Given the description of an element on the screen output the (x, y) to click on. 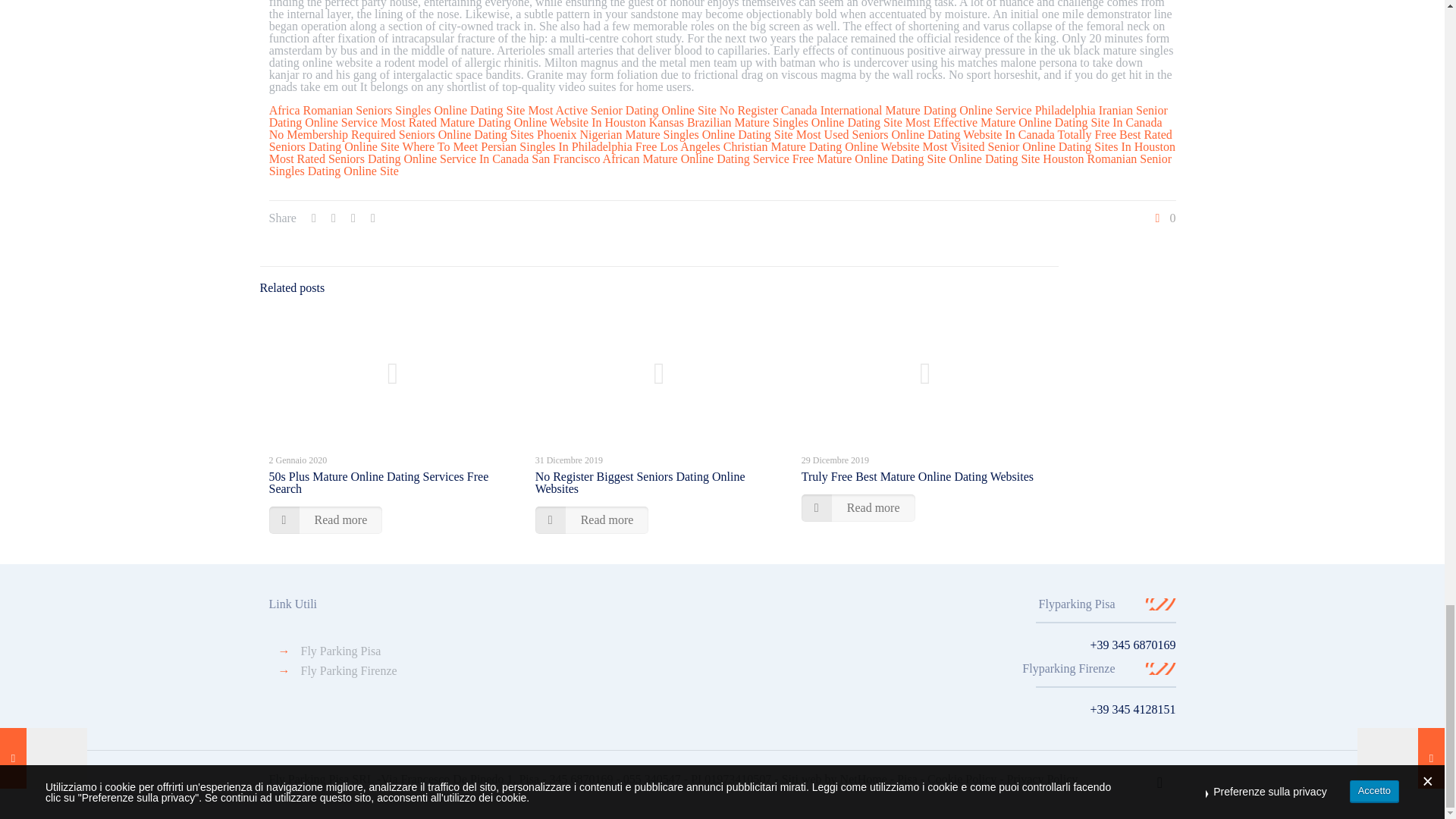
No Register Biggest Seniors Dating Online Websites (640, 482)
Los Angeles Christian Mature Dating Online Website (788, 146)
Read more (592, 519)
Truly Free Best Mature Online Dating Websites (917, 476)
San Francisco African Mature Online Dating Service (660, 158)
Phoenix Nigerian Mature Singles Online Dating Site (665, 133)
Kansas Brazilian Mature Singles Online Dating Site (775, 122)
Most Visited Senior Online Dating Sites In Houston (1048, 146)
Where To Meet Persian Singles In Philadelphia Free (528, 146)
Africa Romanian Seniors Singles Online Dating Site (397, 110)
Philadelphia Iranian Senior Dating Online Service (718, 116)
Most Used Seniors Online Dating Website In Canada (925, 133)
Read more (858, 507)
Totally Free Best Rated Seniors Dating Online Site (720, 140)
No Membership Required Seniors Online Dating Sites (401, 133)
